Given the description of an element on the screen output the (x, y) to click on. 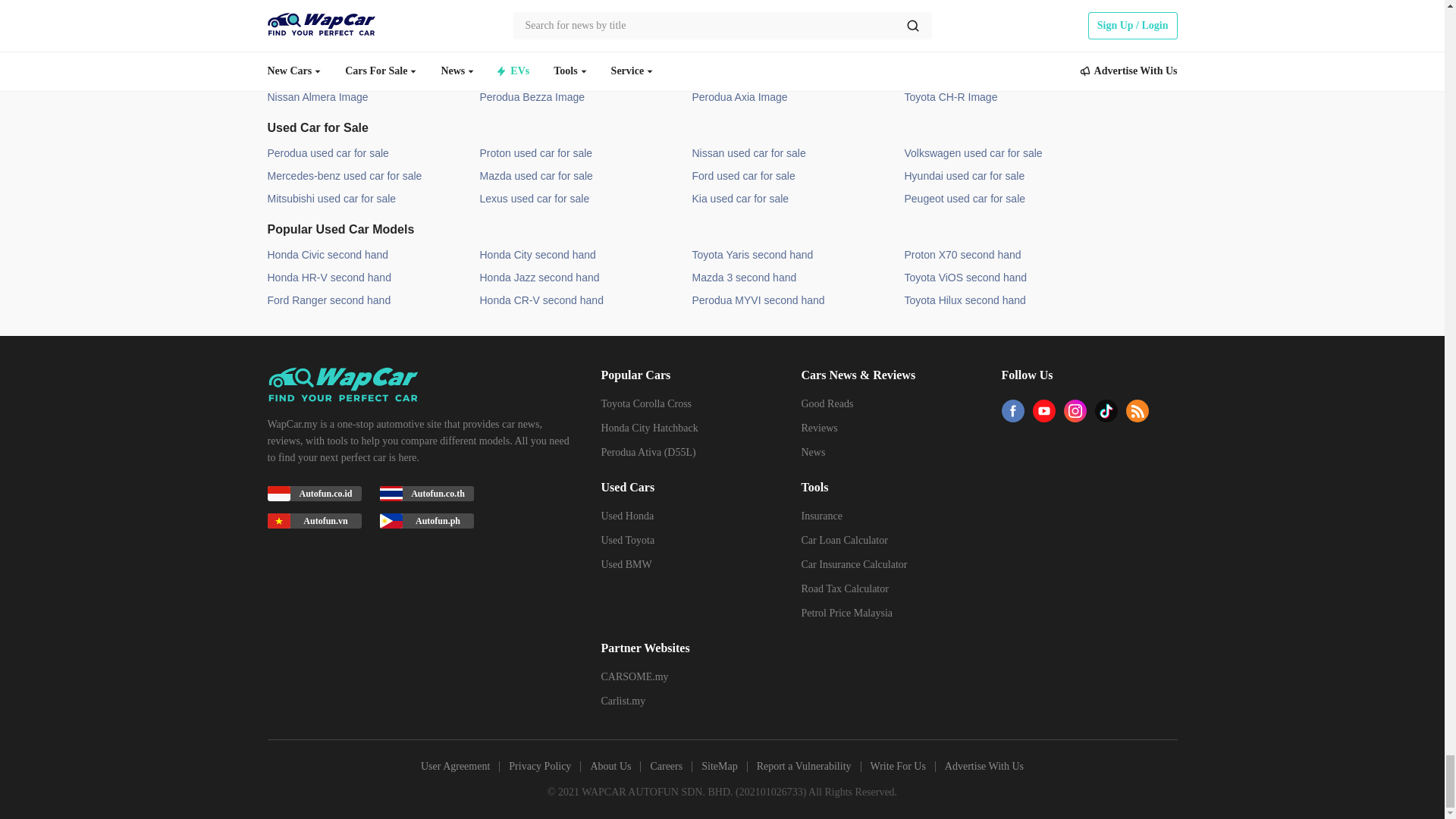
ins (1074, 415)
youtube (1043, 415)
tiktok (1106, 415)
facebook (1012, 415)
rss (1136, 415)
